Given the description of an element on the screen output the (x, y) to click on. 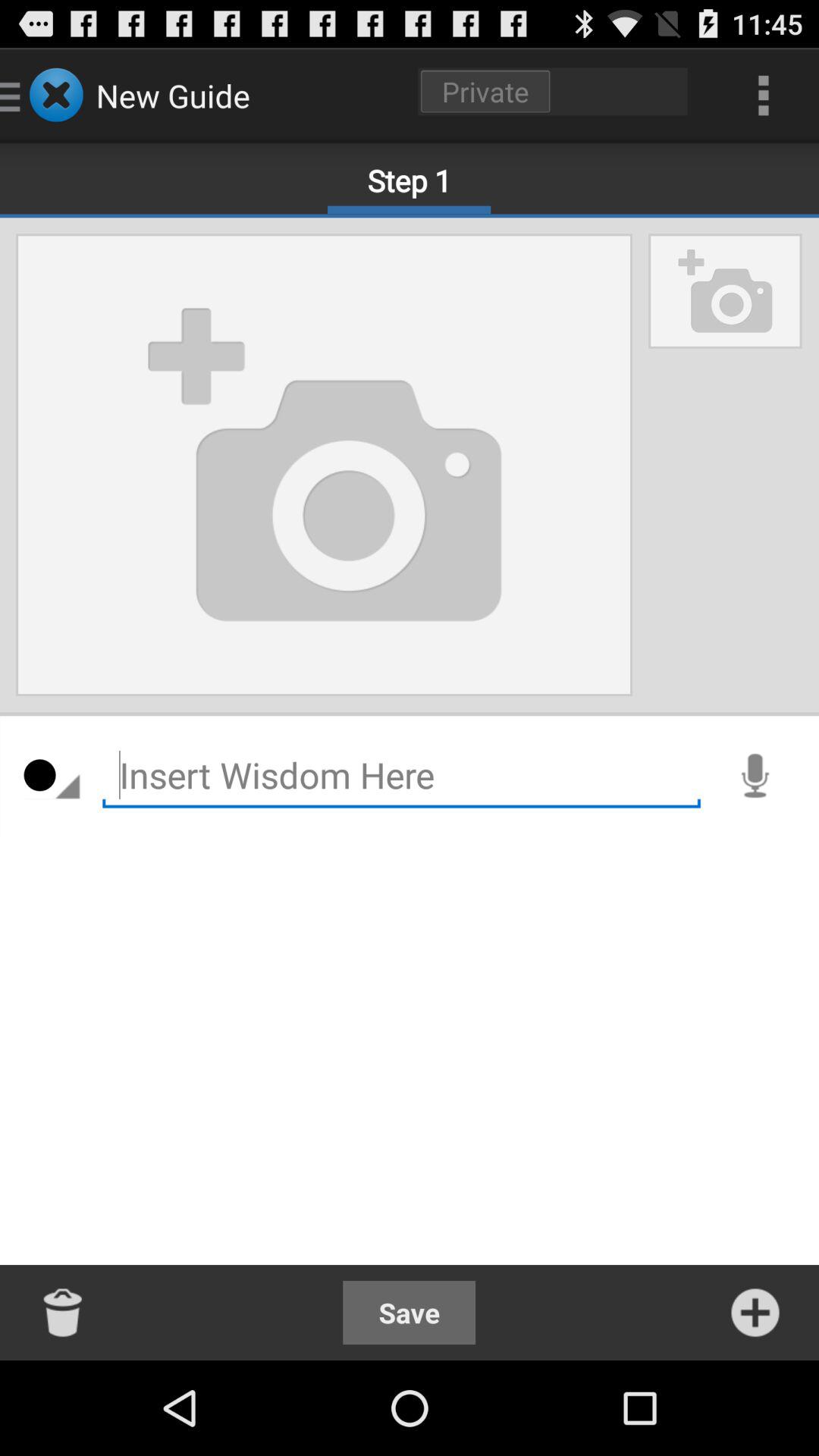
click on private (552, 91)
